Given the description of an element on the screen output the (x, y) to click on. 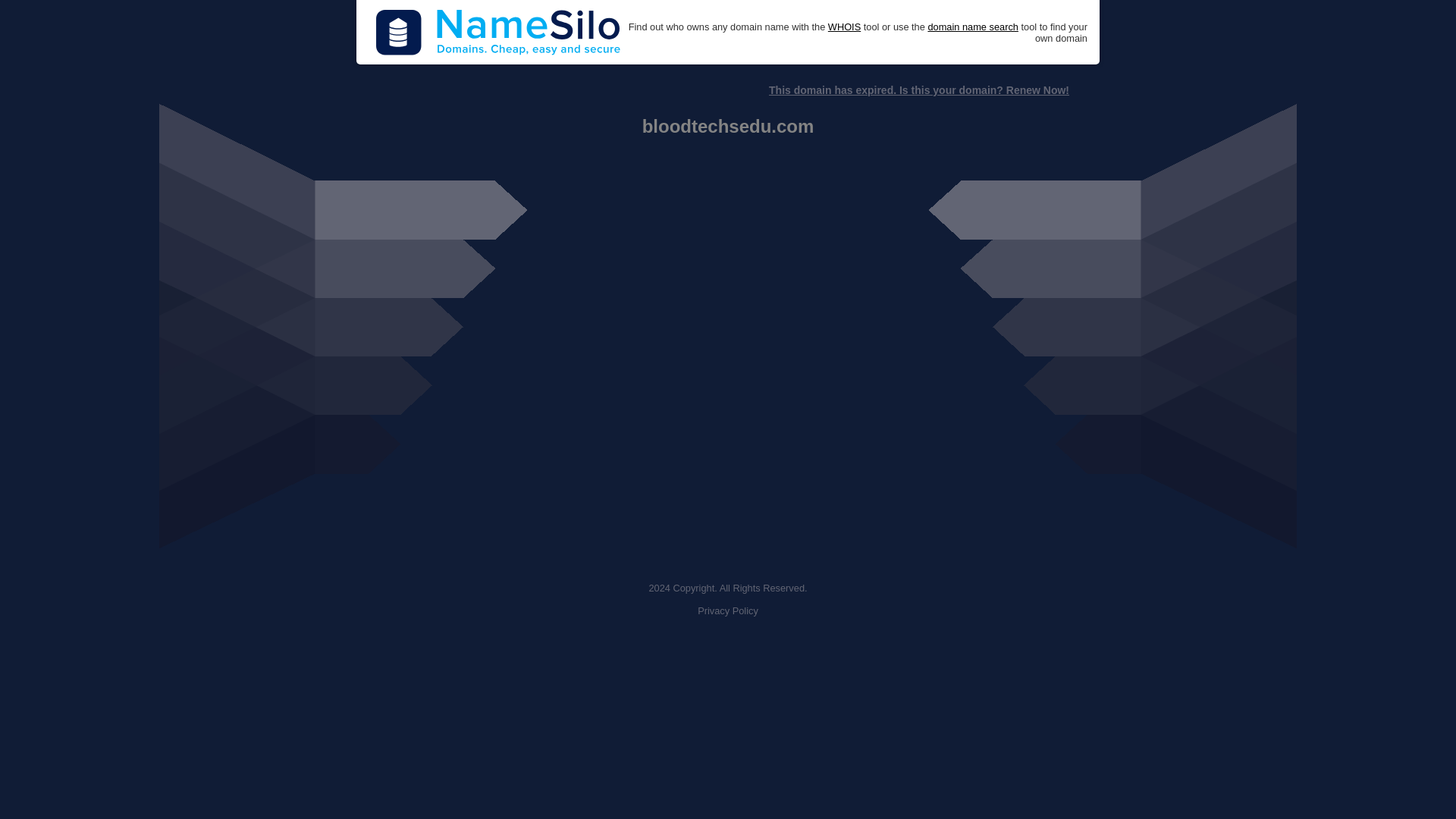
WHOIS (844, 26)
domain name search (972, 26)
Privacy Policy (727, 610)
This domain has expired. Is this your domain? Renew Now! (918, 90)
